Given the description of an element on the screen output the (x, y) to click on. 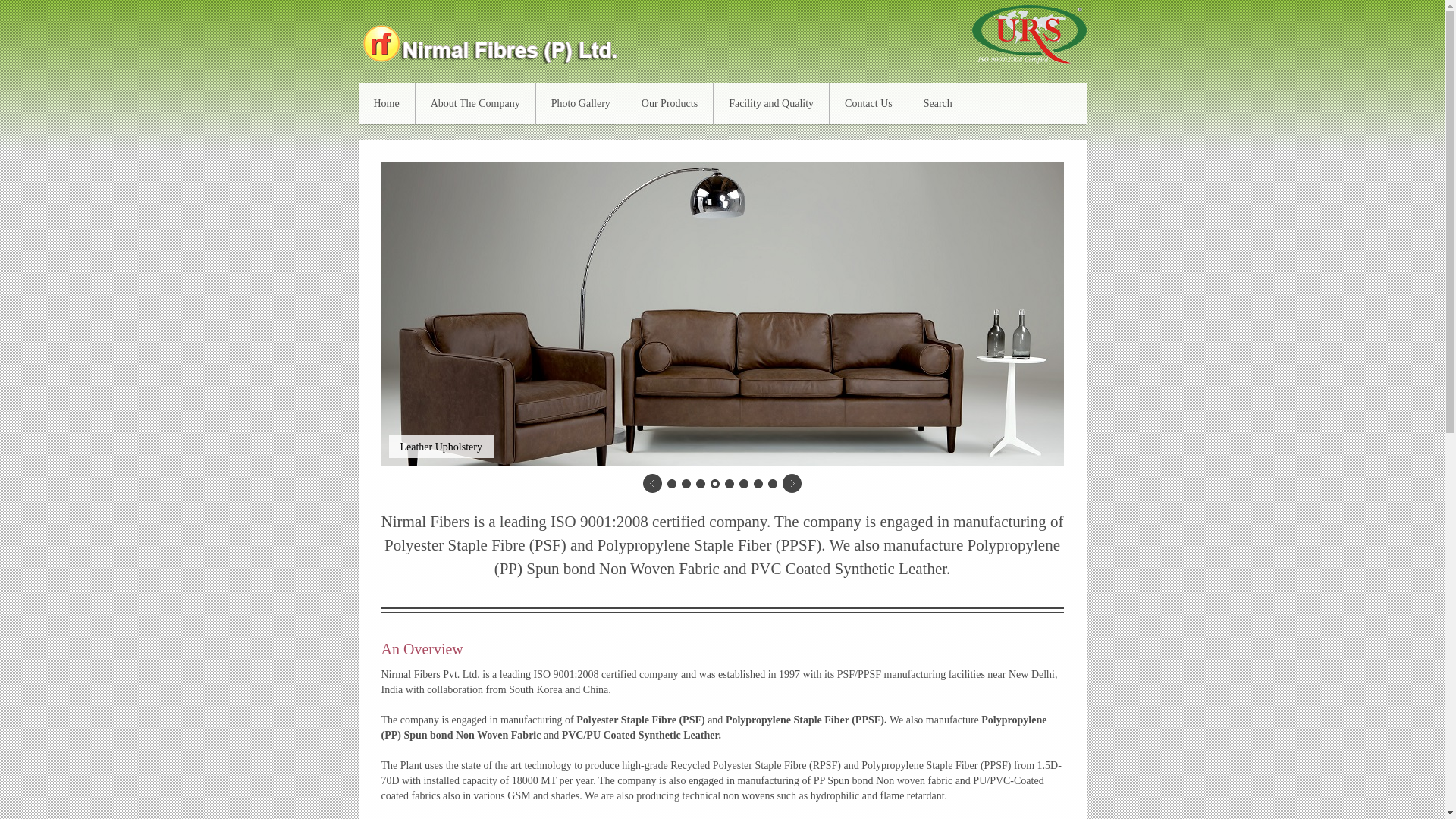
Photo Gallery (580, 103)
Search (938, 103)
About The Company (474, 103)
Facility and Quality (771, 103)
Contact Us (868, 103)
Our Products (669, 103)
Home (386, 103)
